Given the description of an element on the screen output the (x, y) to click on. 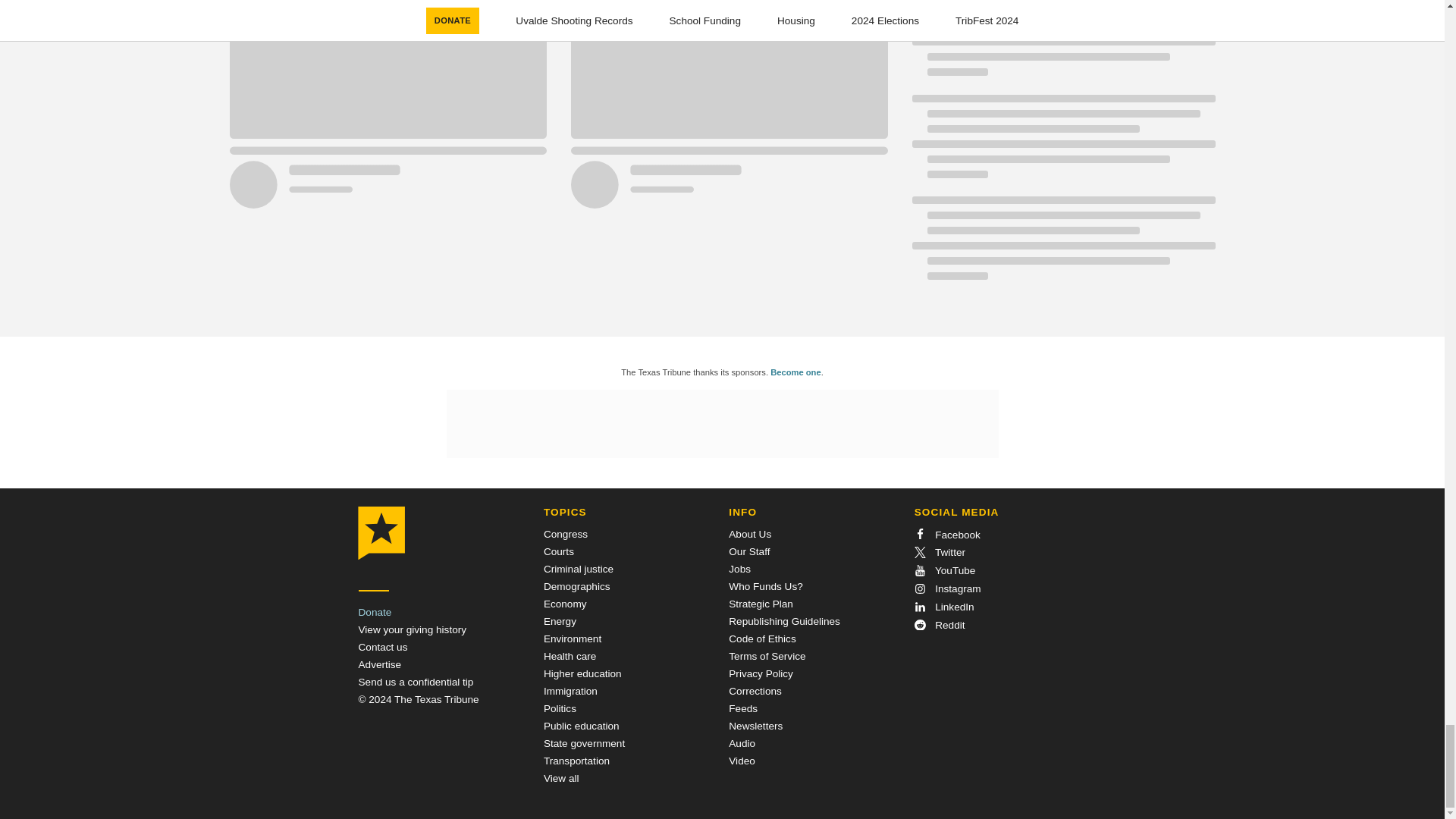
Advertise (379, 664)
About Us (750, 533)
Code of Ethics (761, 638)
Republishing Guidelines (784, 621)
Strategic Plan (761, 603)
View your giving history (411, 629)
Terms of Service (767, 655)
Feeds (743, 708)
Who Funds Us? (765, 586)
Privacy Policy (761, 673)
